Given the description of an element on the screen output the (x, y) to click on. 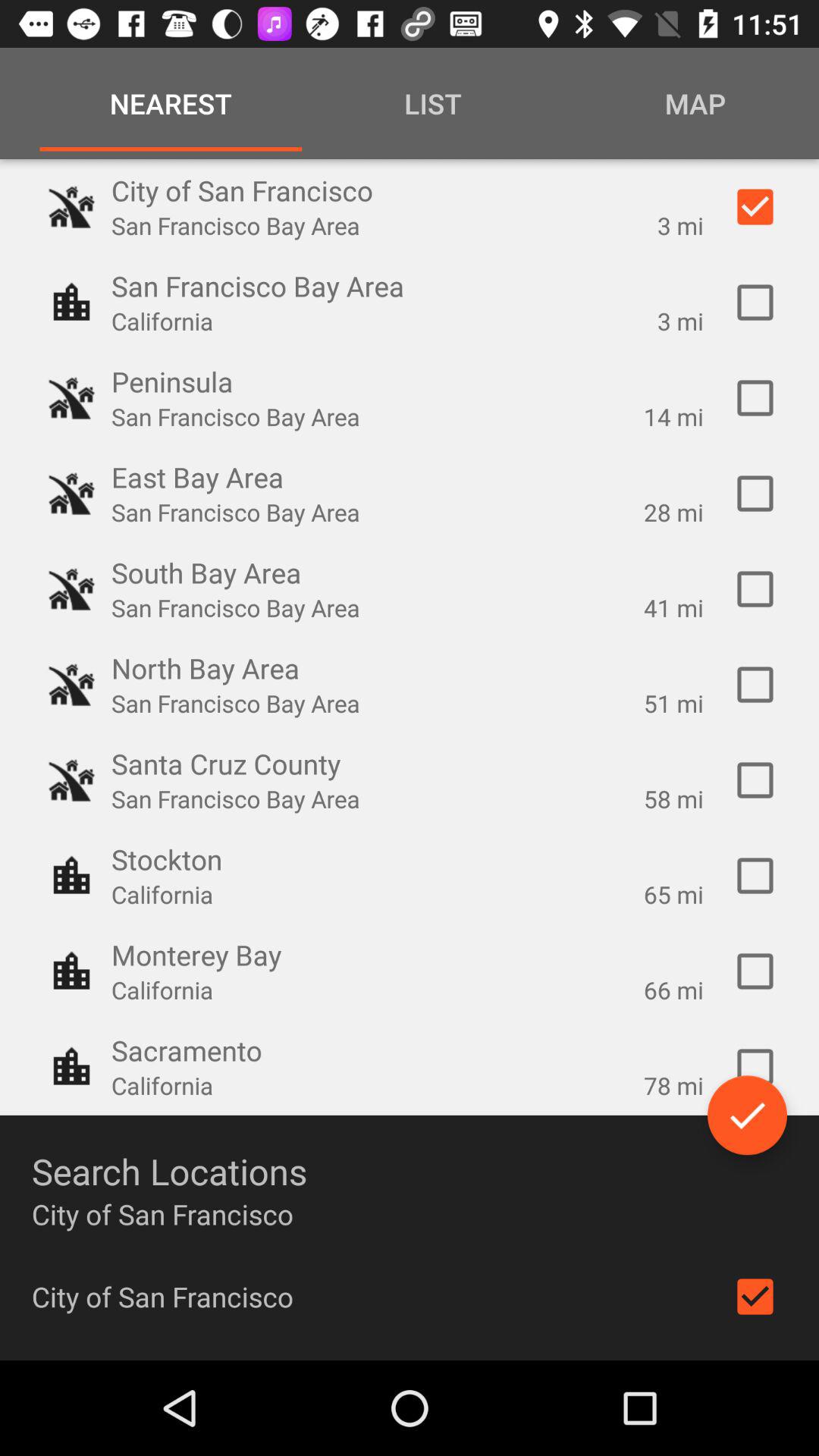
selection box (755, 589)
